Given the description of an element on the screen output the (x, y) to click on. 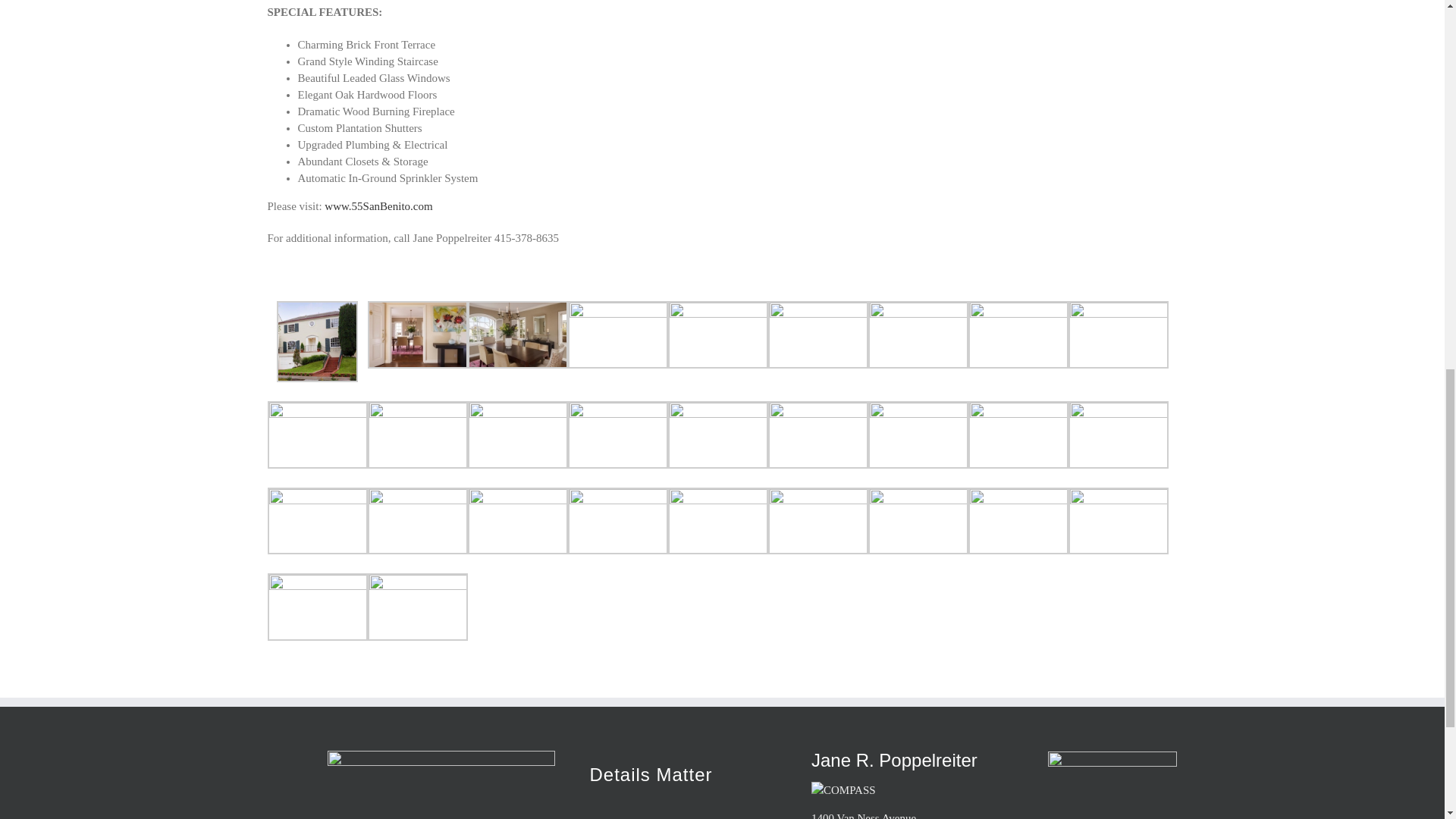
www.55SanBenito.com (378, 205)
